Given the description of an element on the screen output the (x, y) to click on. 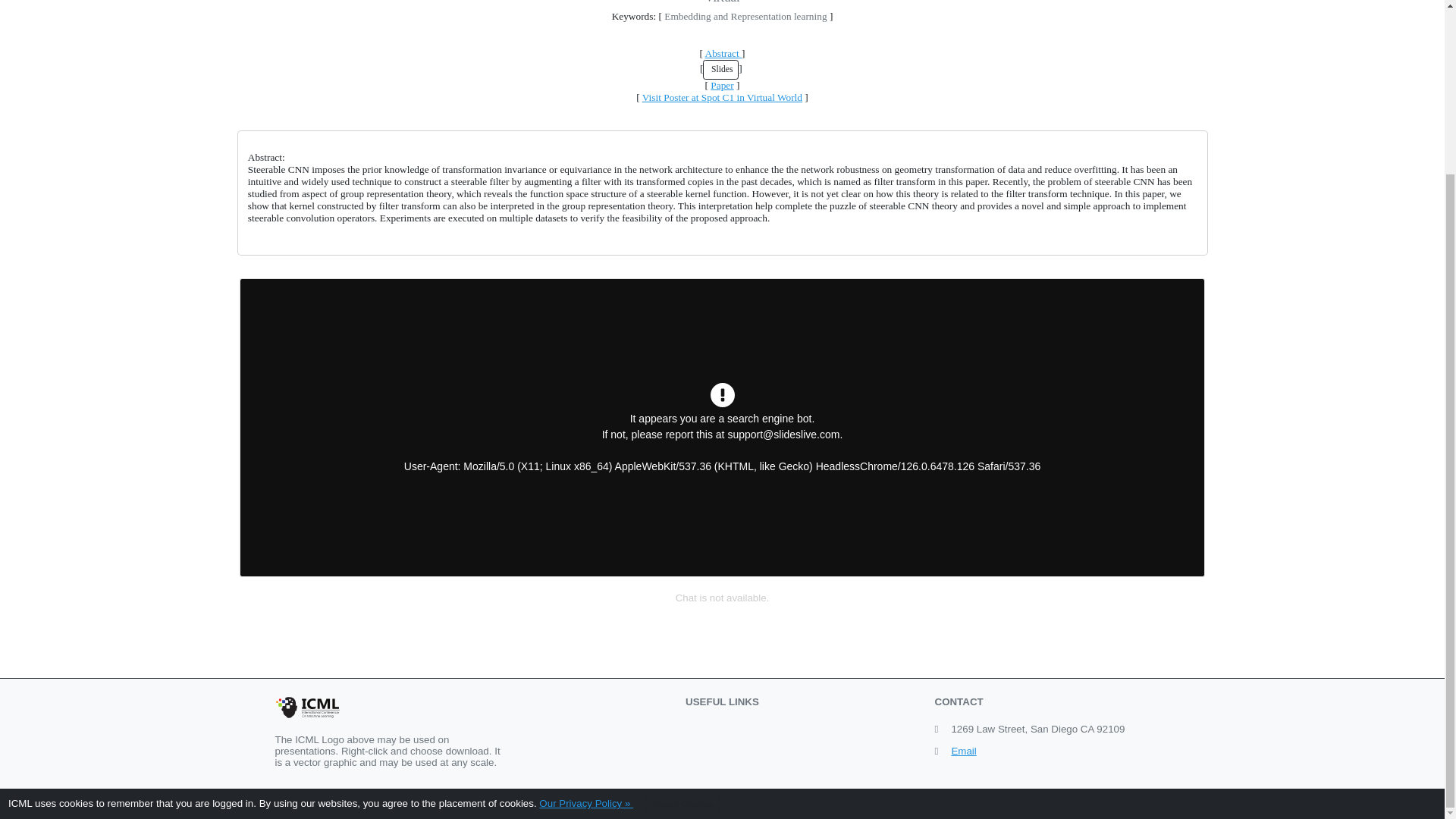
Slides (720, 69)
